Given the description of an element on the screen output the (x, y) to click on. 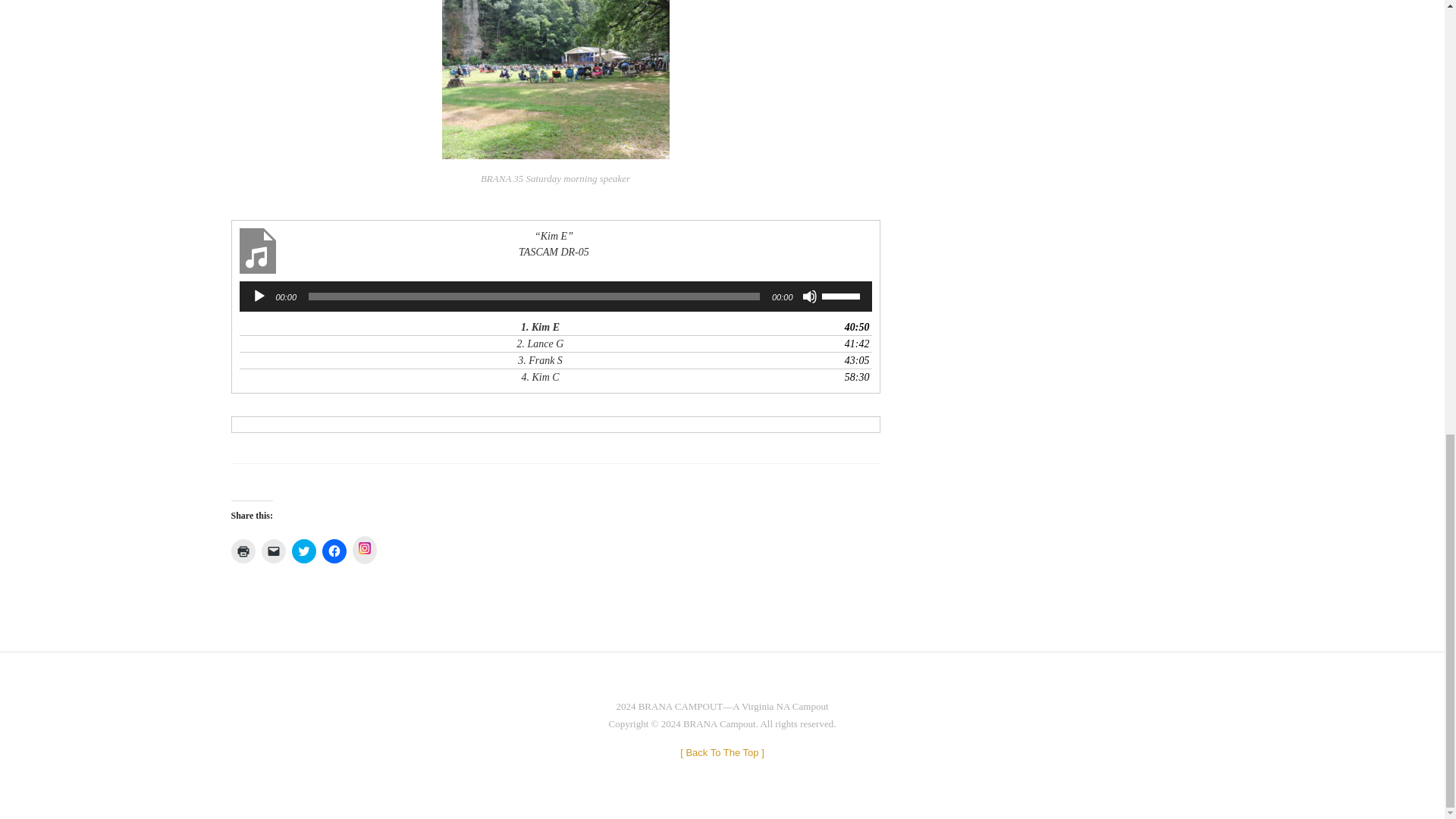
Play (258, 296)
Click to email a link to a friend (272, 550)
1. Kim E (539, 326)
Mute (809, 296)
3. Frank S (539, 360)
Click to share on Facebook (333, 550)
Click to print (242, 550)
Click to share on Twitter (303, 550)
Back to the Top (721, 752)
4. Kim C (539, 376)
2. Lance G (539, 343)
